Given the description of an element on the screen output the (x, y) to click on. 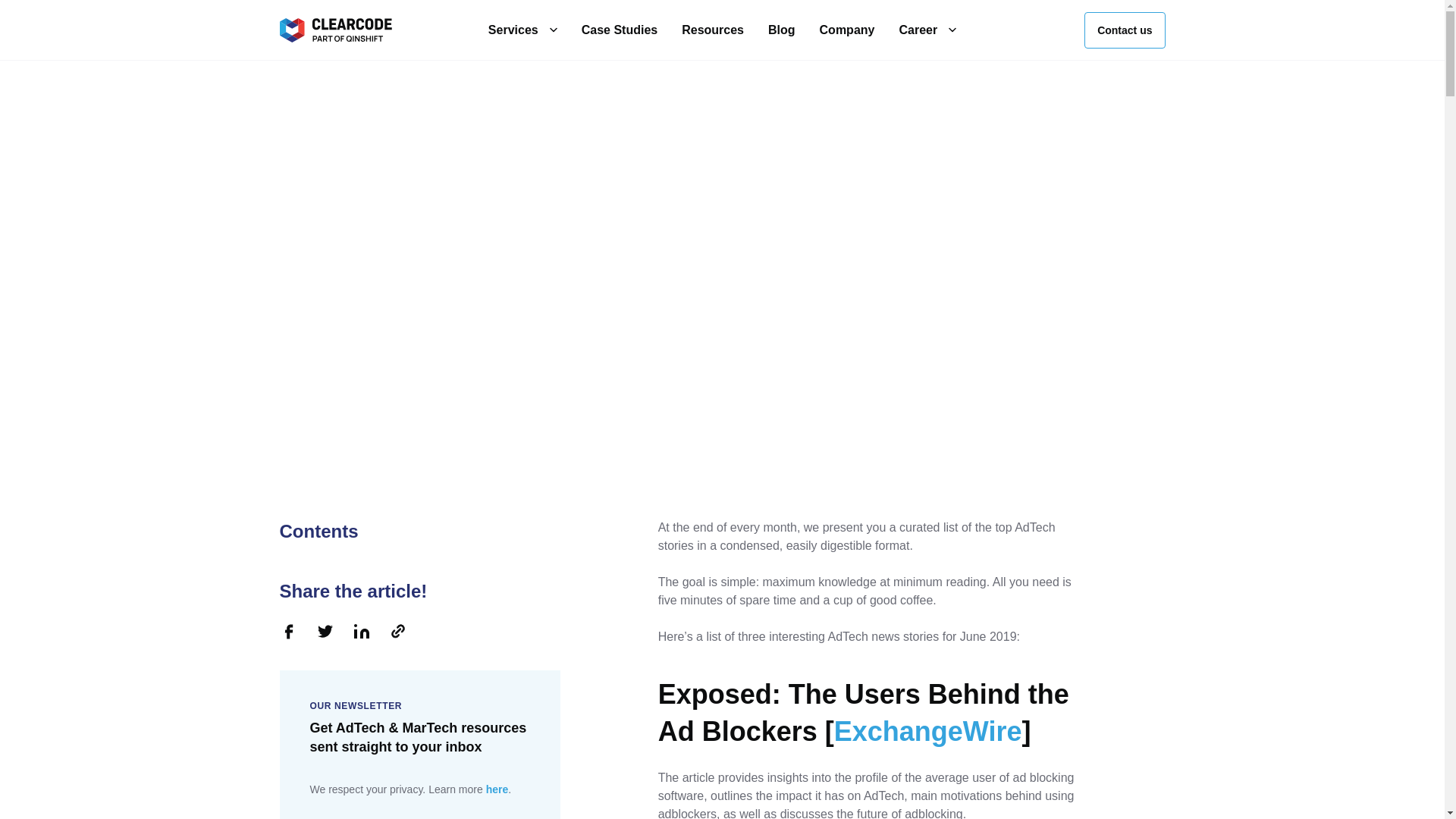
Career (917, 30)
Blog (781, 30)
Company (847, 30)
Resources (712, 30)
Case Studies (619, 30)
Services (512, 30)
